Given the description of an element on the screen output the (x, y) to click on. 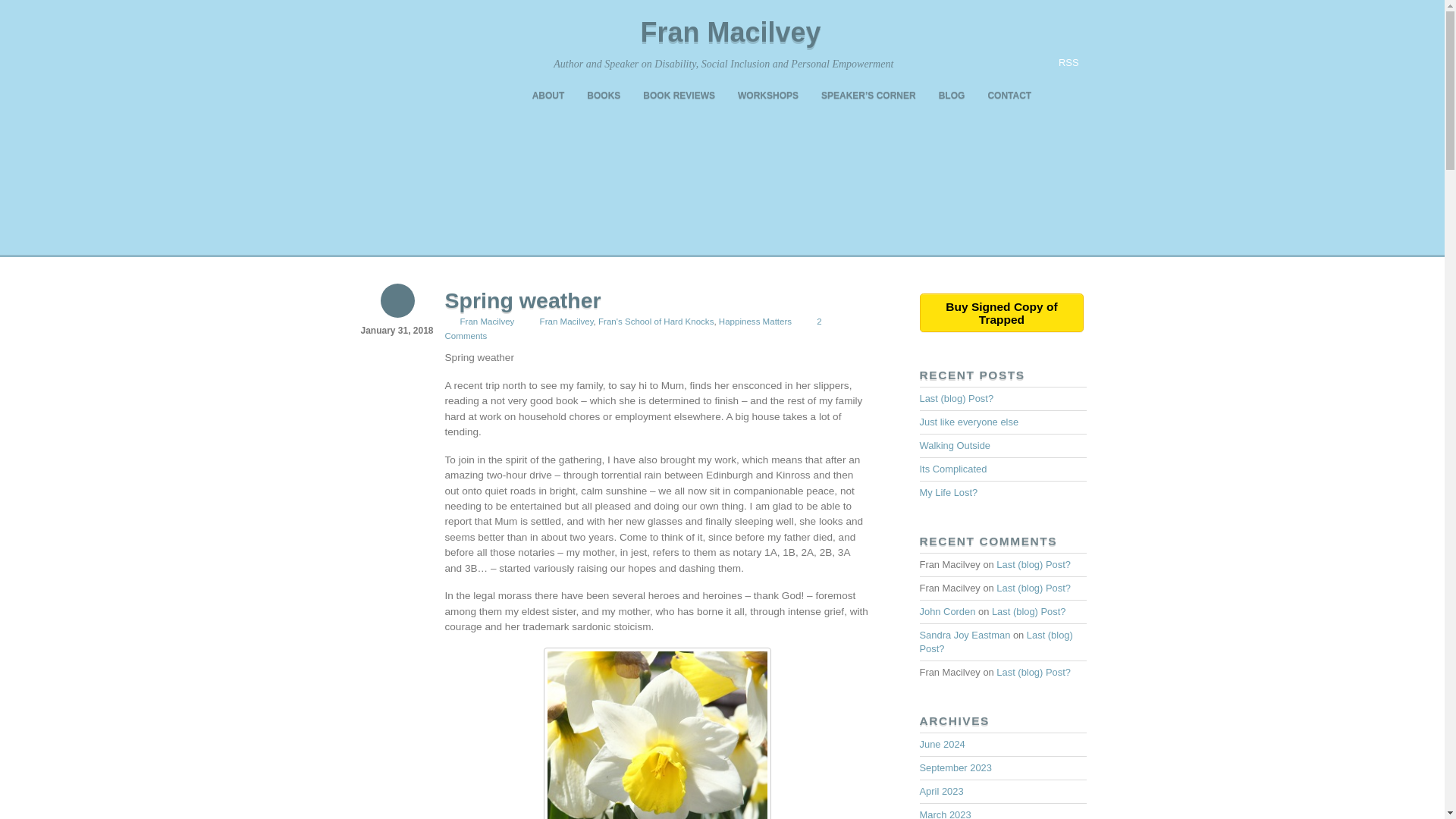
Fran Macilvey (486, 320)
BOOK REVIEWS (678, 95)
Spring weather (521, 300)
Fran Macilvey (730, 31)
2 Comments (632, 327)
Its Complicated (952, 469)
Fran Macilvey (730, 31)
CONTACT (1008, 95)
Buy Signed Copy of Trapped (1000, 312)
Walking Outside (954, 445)
HOME (511, 95)
RSS (1056, 62)
BLOG (951, 95)
BOOKS (603, 95)
Happiness Matters (755, 320)
